Given the description of an element on the screen output the (x, y) to click on. 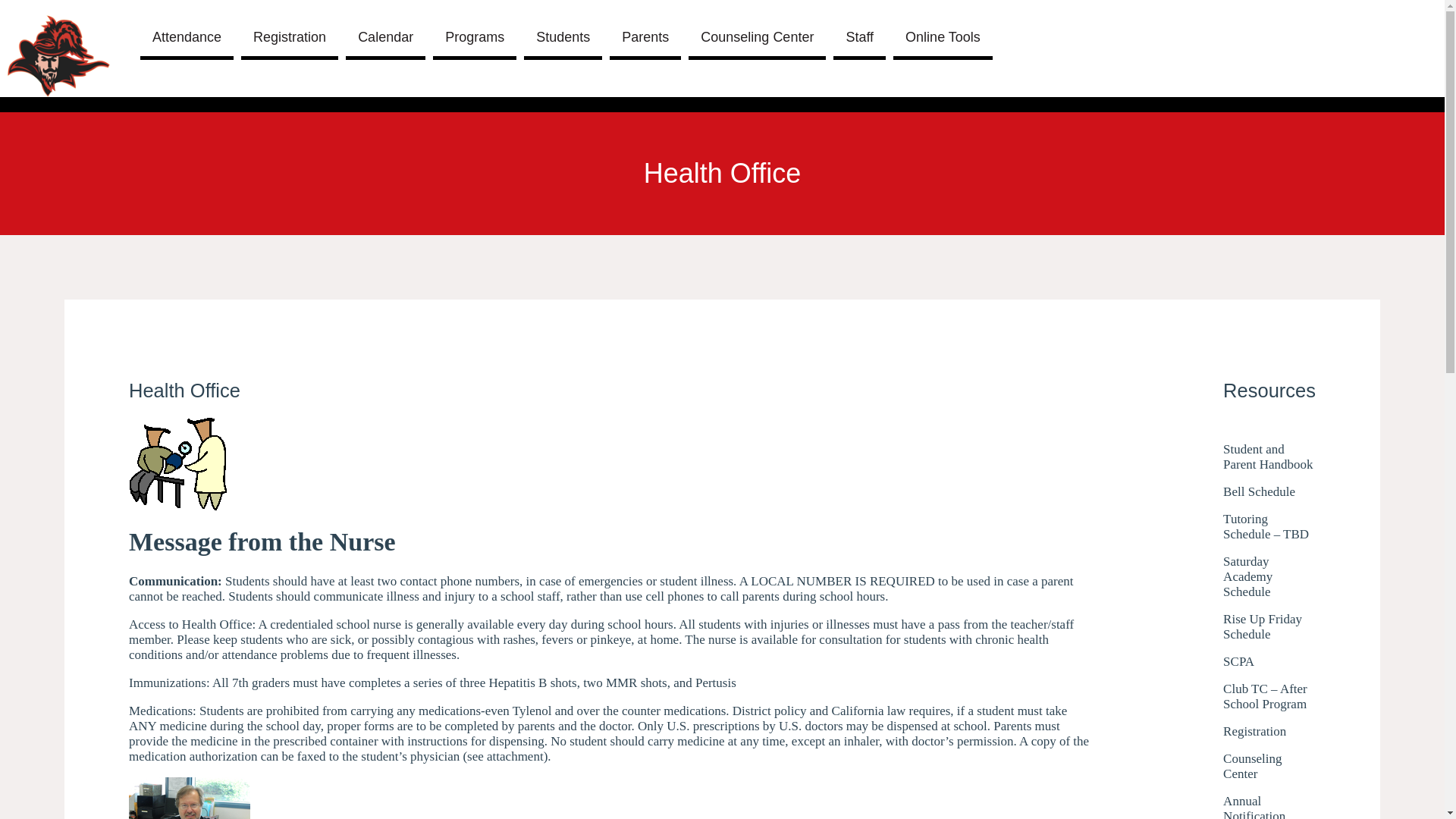
Bell Schedule (1259, 491)
Counseling Center (756, 38)
Student and Parent Handbook (1269, 457)
SCPA (1238, 661)
Mr. Kovacs (189, 798)
Parents (645, 38)
Students (563, 38)
Saturday Academy Schedule (1269, 576)
Registration (1254, 731)
Online Tools (942, 38)
Counseling Center (1269, 766)
Calendar (385, 38)
Annual Notification (1269, 806)
Rise Up Friday Schedule (1269, 626)
00174021 (178, 463)
